Given the description of an element on the screen output the (x, y) to click on. 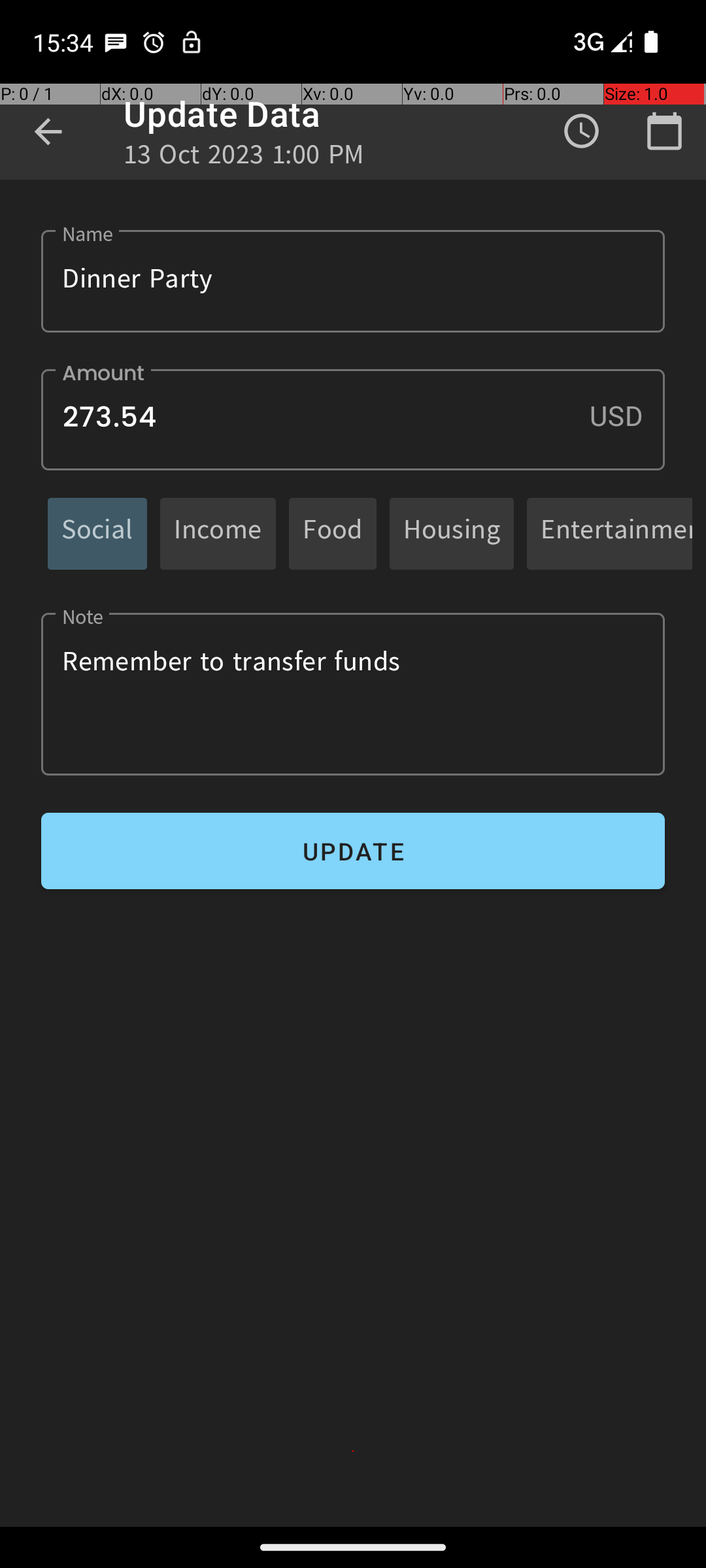
13 Oct 2023 1:00 PM Element type: android.widget.TextView (243, 157)
273.54 Element type: android.widget.EditText (352, 419)
